Given the description of an element on the screen output the (x, y) to click on. 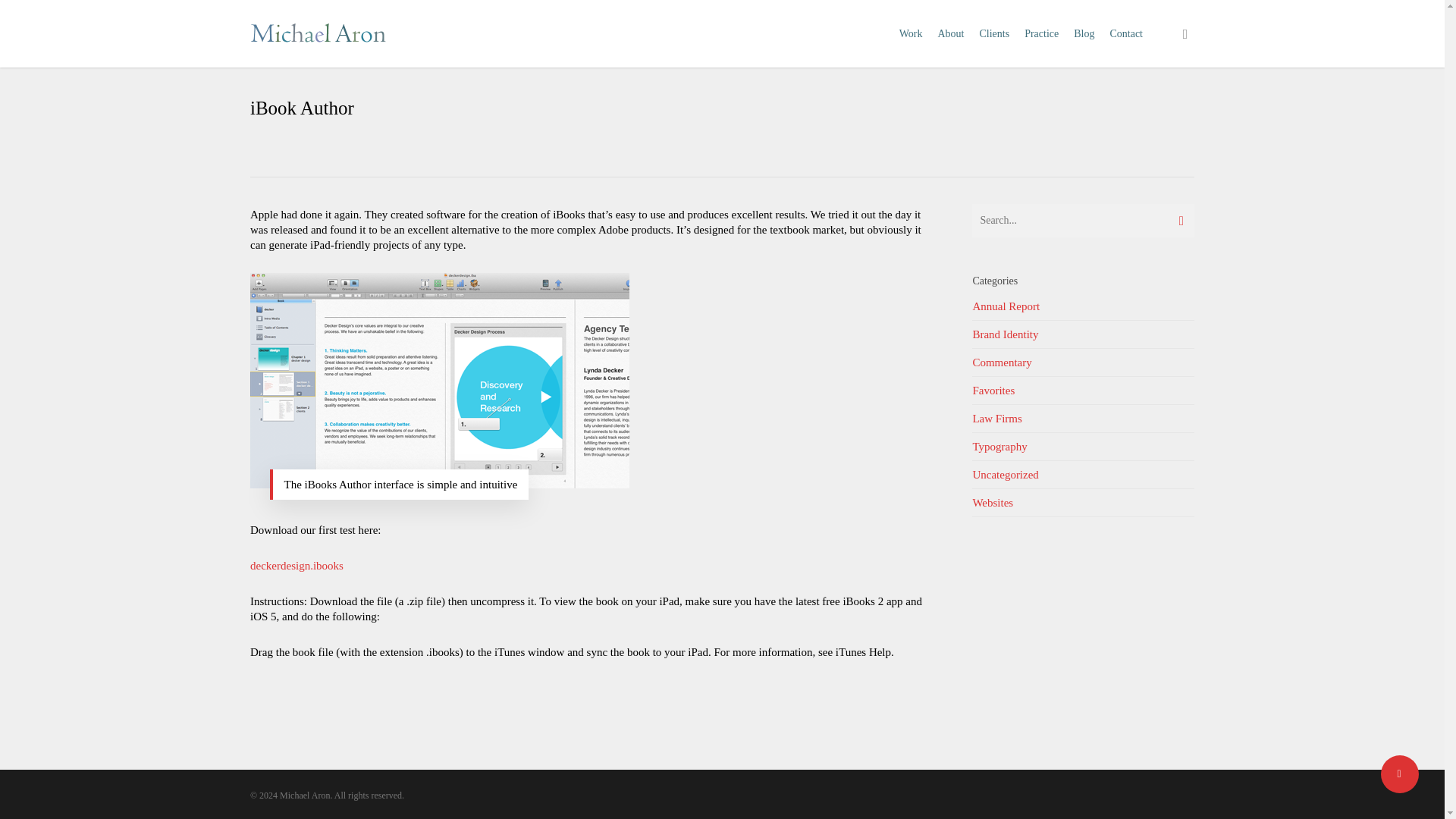
Law Firms (1082, 418)
Websites (1082, 502)
Services, Disciplines, Industries (1040, 33)
Annual Report (1082, 309)
Brand Identity (1082, 334)
Contact (1126, 33)
Commentary (1082, 362)
Clients (993, 33)
search (1184, 32)
About (950, 33)
Search for: (1082, 220)
Uncategorized (1082, 474)
Blog (1083, 33)
Typography (1082, 447)
Practice (1040, 33)
